Given the description of an element on the screen output the (x, y) to click on. 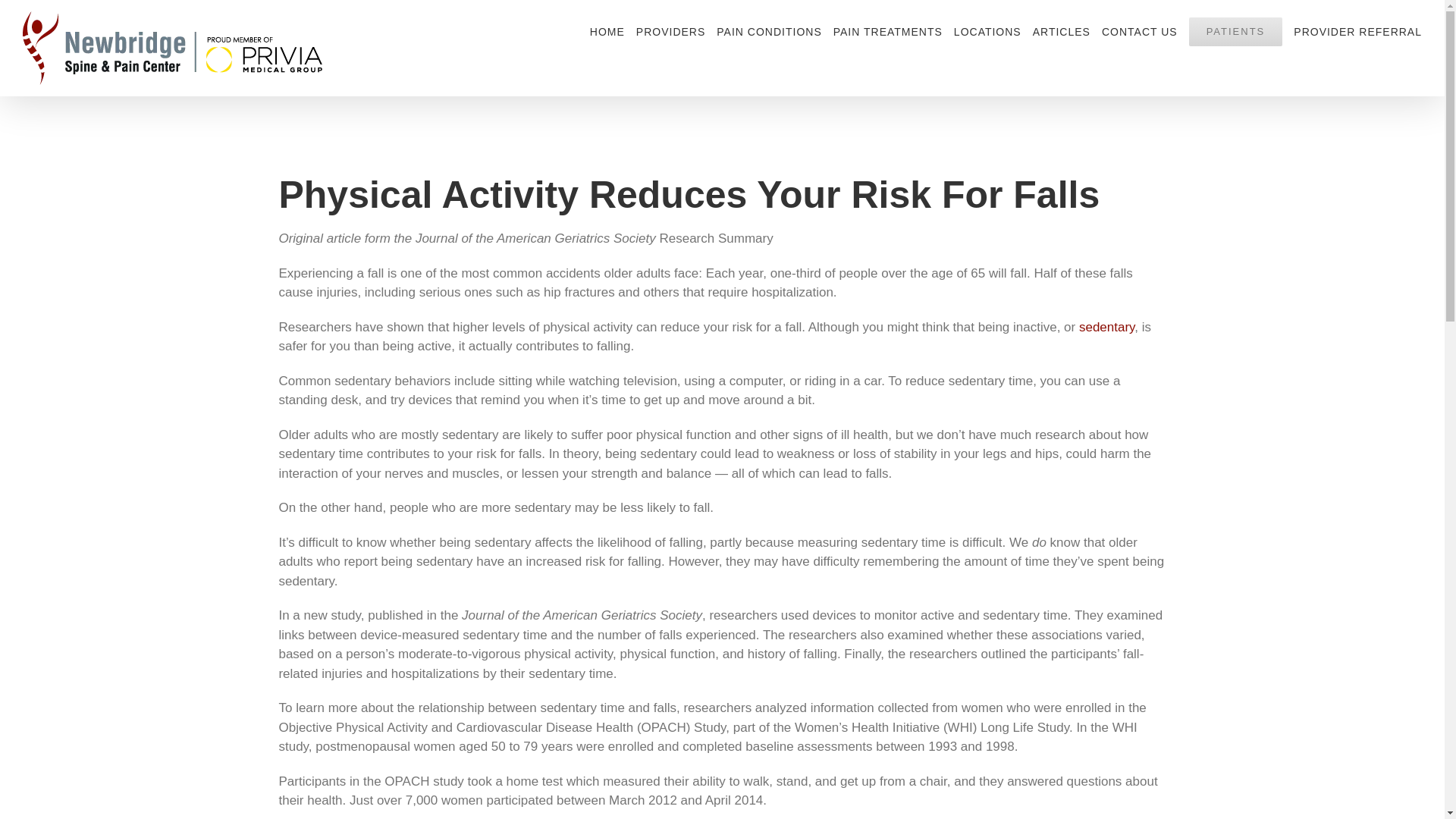
PROVIDER REFERRAL (1358, 31)
ARTICLES (1061, 31)
CONTACT US (1139, 31)
PROVIDERS (670, 31)
LOCATIONS (987, 31)
PATIENTS (1235, 31)
PAIN CONDITIONS (768, 31)
PAIN TREATMENTS (887, 31)
